Given the description of an element on the screen output the (x, y) to click on. 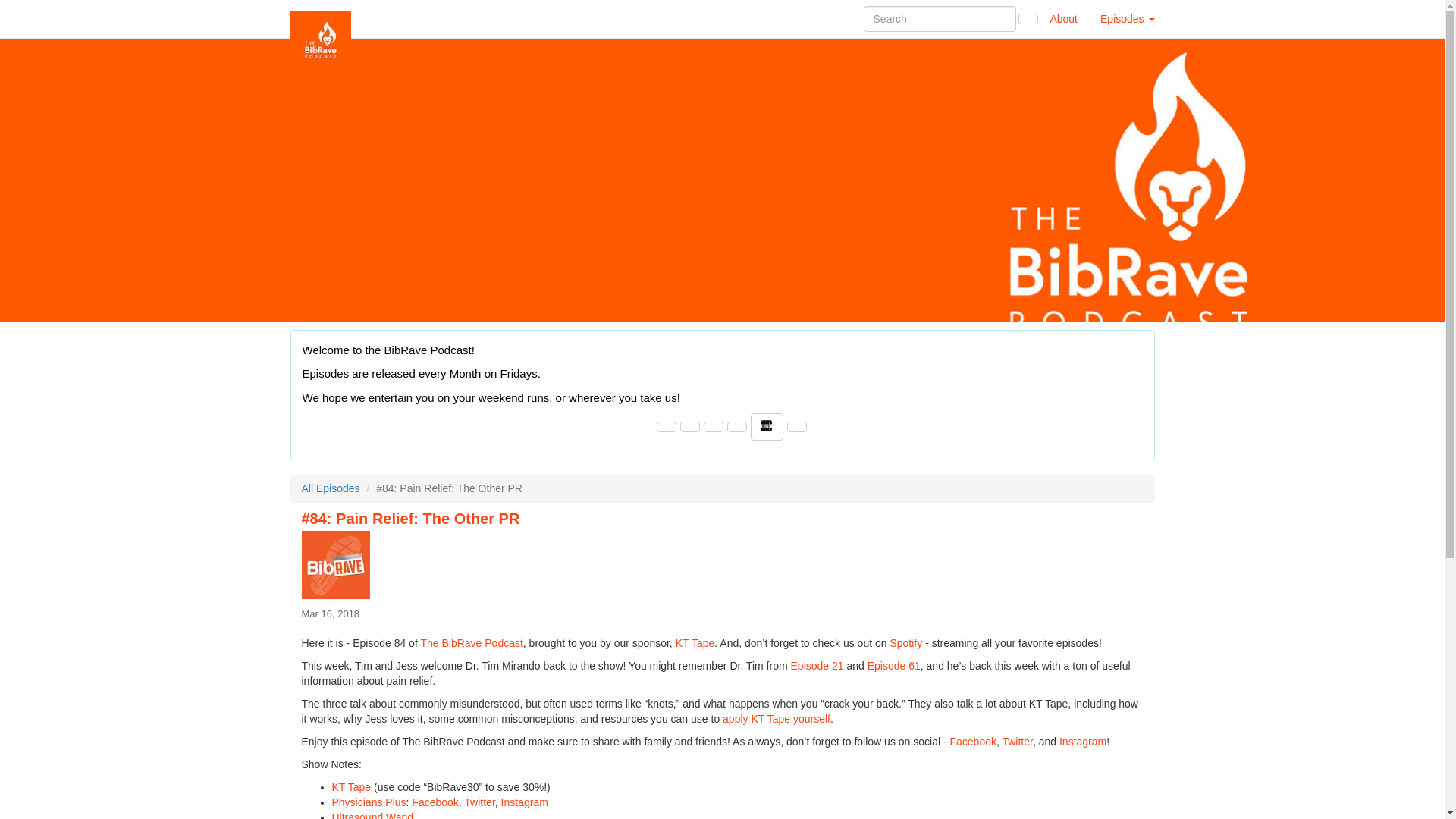
Home Page (320, 18)
Episodes (1127, 18)
About (1063, 18)
